Given the description of an element on the screen output the (x, y) to click on. 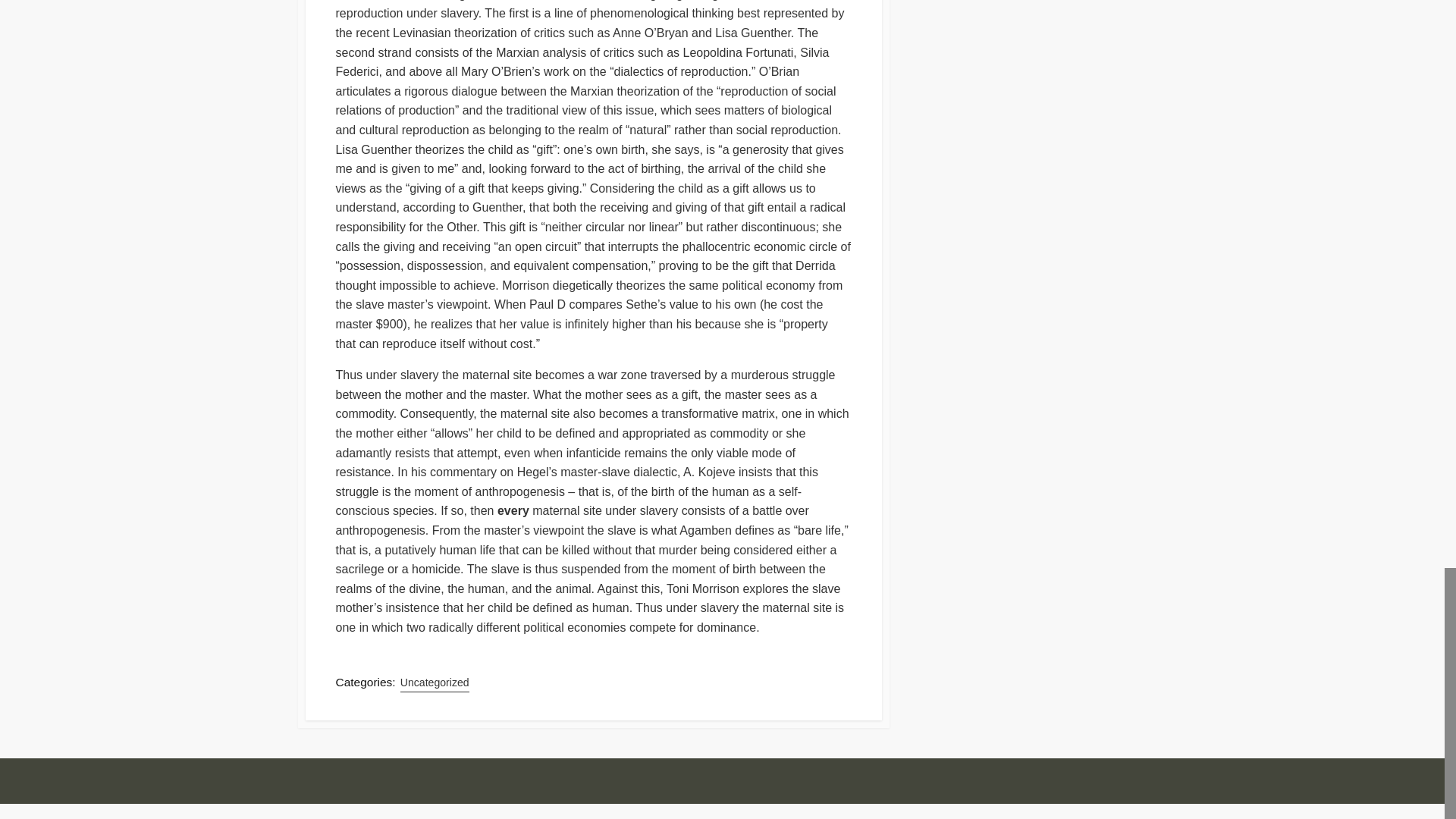
Uncategorized (434, 682)
